Given the description of an element on the screen output the (x, y) to click on. 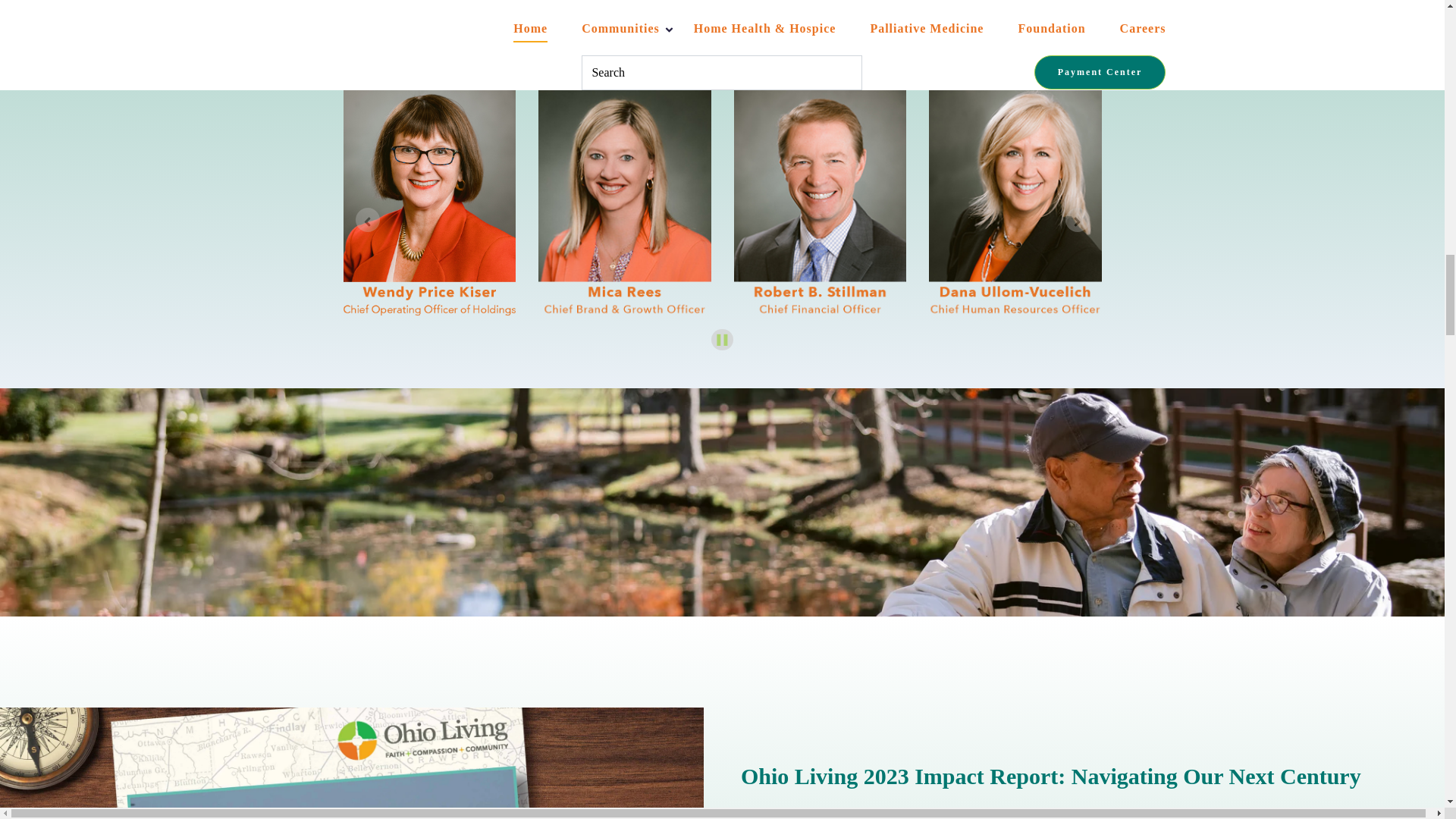
Annual Report FY23 (351, 763)
